Given the description of an element on the screen output the (x, y) to click on. 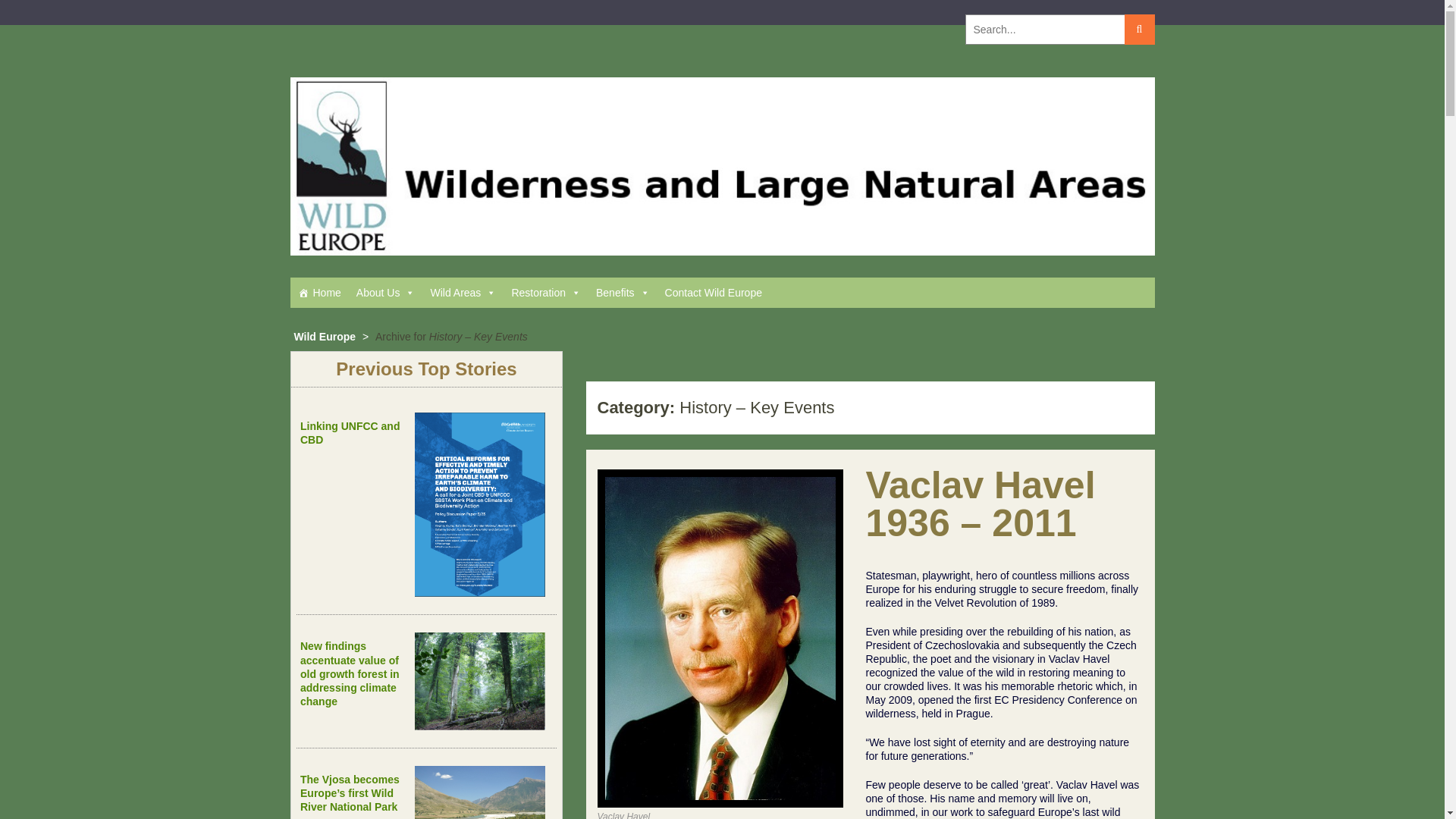
Linking UNFCC and CBD (348, 432)
